Given the description of an element on the screen output the (x, y) to click on. 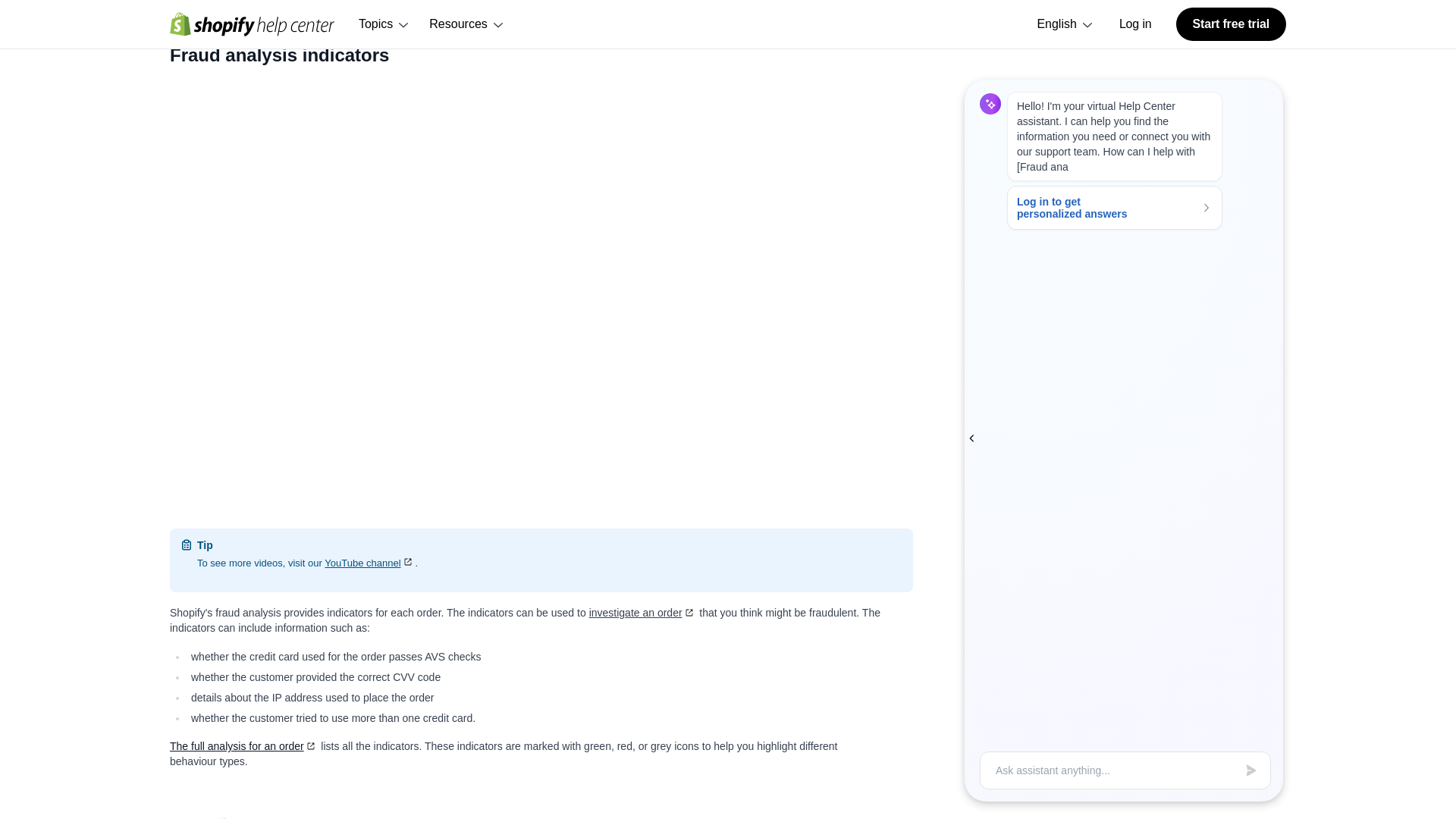
Related information (243, 2)
YouTube channel (369, 562)
investigate an order (643, 612)
The full analysis for an order (243, 746)
